Given the description of an element on the screen output the (x, y) to click on. 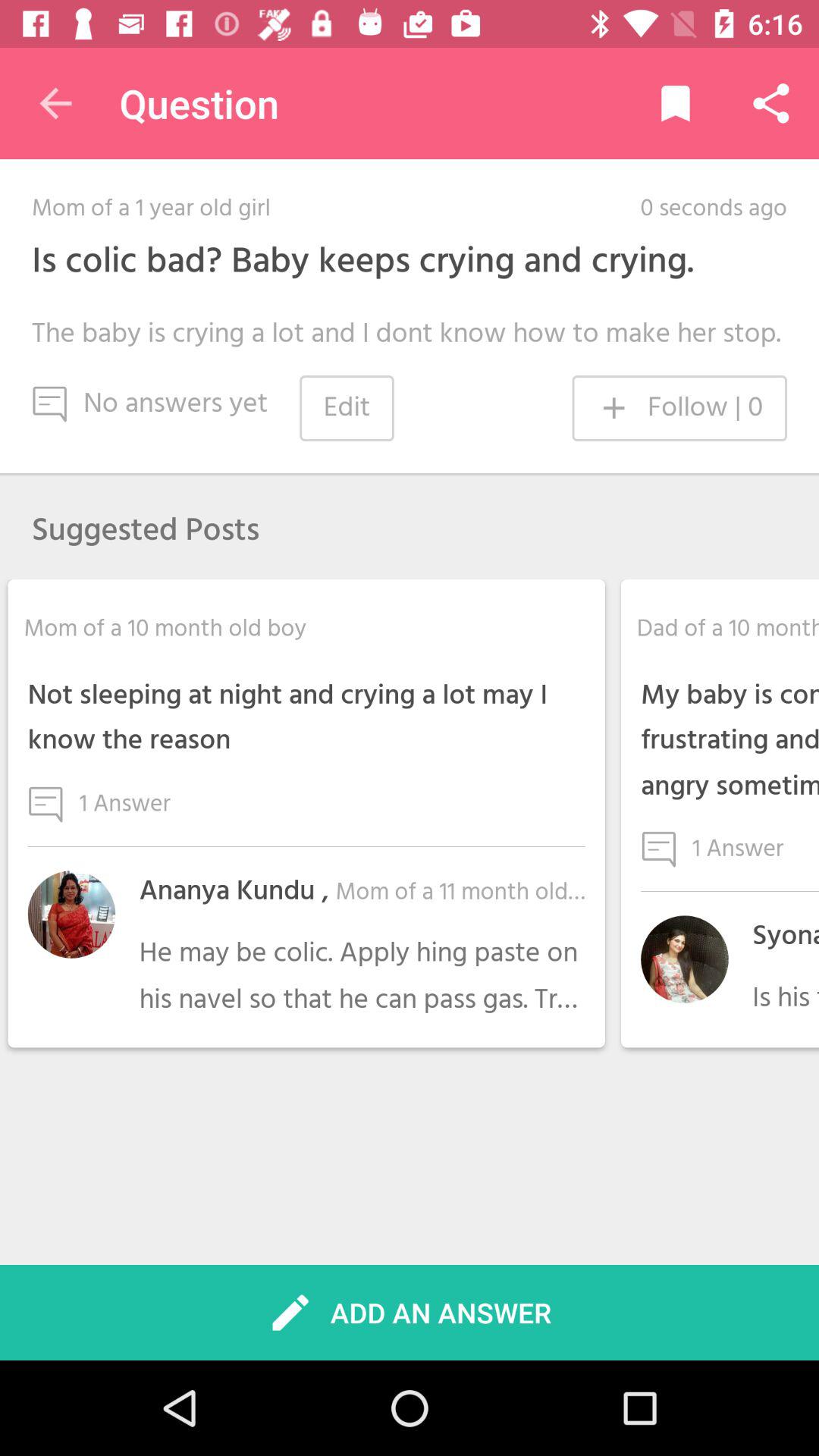
turn on icon to the left of the question (55, 103)
